Given the description of an element on the screen output the (x, y) to click on. 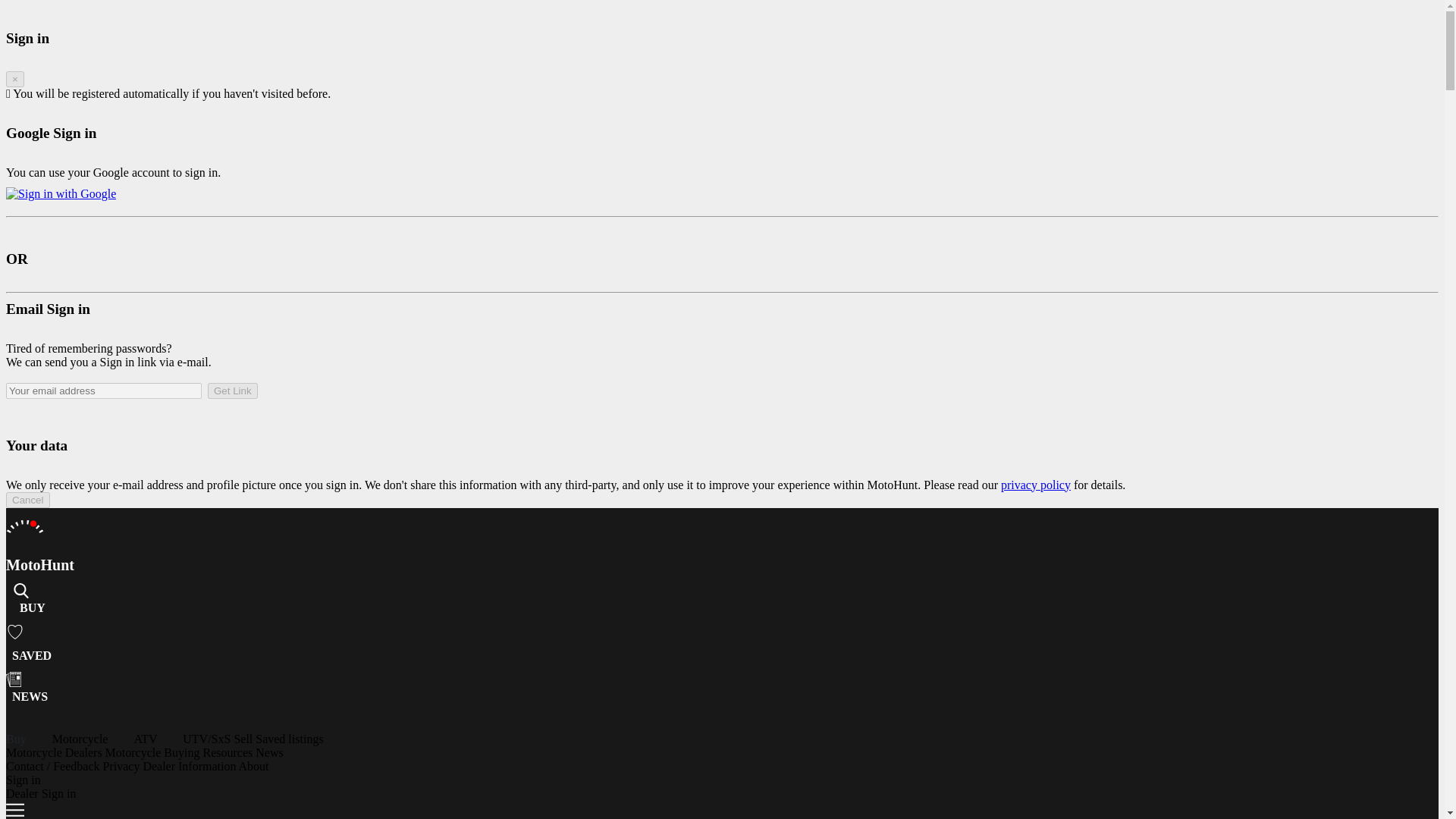
Sign in (22, 779)
About (253, 766)
News (269, 752)
Motorcycle Buying Resources (180, 752)
Saved Motorcycles (30, 655)
Privacy (122, 766)
Cancel (27, 499)
Sign in (22, 779)
Motorcycle Dealers (54, 752)
Dealer Information (190, 766)
